Given the description of an element on the screen output the (x, y) to click on. 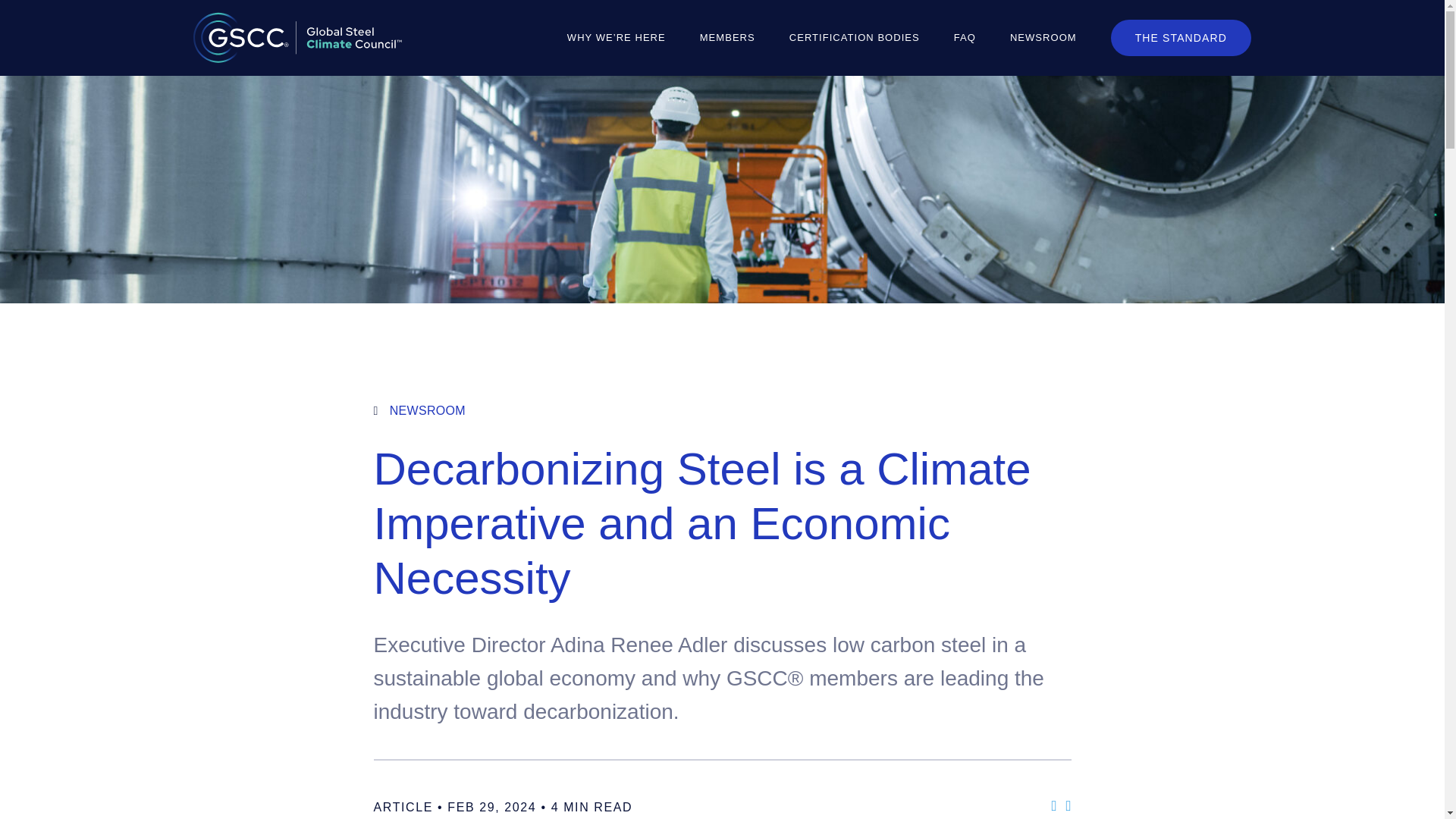
CERTIFICATION BODIES (854, 38)
NEWSROOM (1043, 38)
NEWSROOM (1043, 38)
NEWSROOM (721, 410)
CERTIFICATION BODIES (854, 38)
WHY WE'RE HERE (616, 38)
MEMBERS (727, 38)
Feb 29, 2024 (490, 807)
MEMBERS (727, 38)
FAQ (964, 38)
THE STANDARD (1181, 37)
FAQ (964, 38)
THE STANDARD (1181, 37)
